Given the description of an element on the screen output the (x, y) to click on. 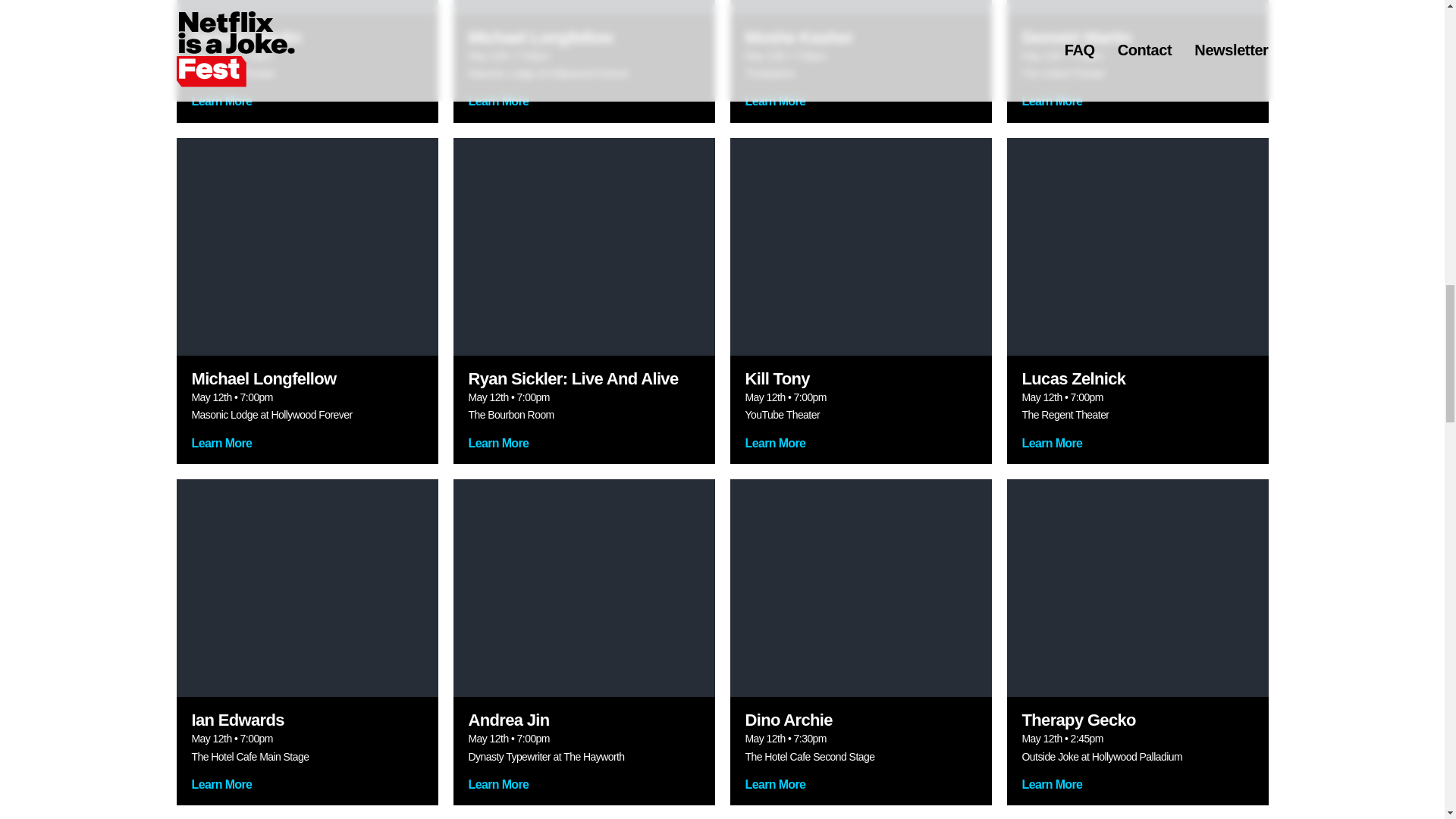
Learn More (860, 792)
Learn More (1137, 451)
Learn More (583, 451)
Learn More (307, 792)
Learn More (583, 792)
Learn More (307, 109)
Learn More (860, 451)
Learn More (860, 109)
Learn More (583, 109)
Learn More (1137, 109)
Learn More (307, 451)
